Given the description of an element on the screen output the (x, y) to click on. 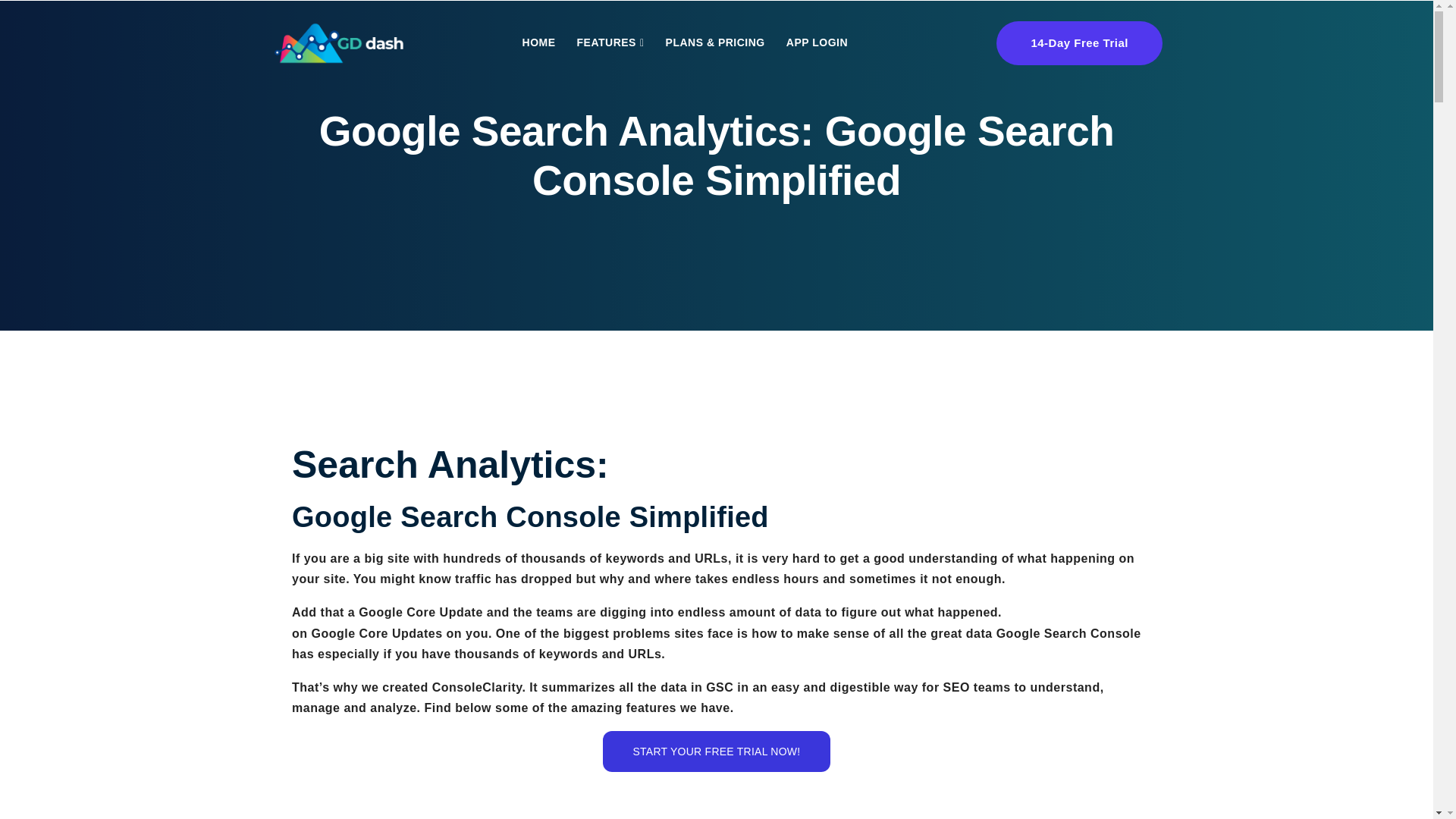
APP LOGIN (817, 41)
FEATURES (610, 42)
START YOUR FREE TRIAL NOW! (716, 751)
14-Day Free Trial (1078, 43)
App Login (817, 41)
Features (610, 42)
